Given the description of an element on the screen output the (x, y) to click on. 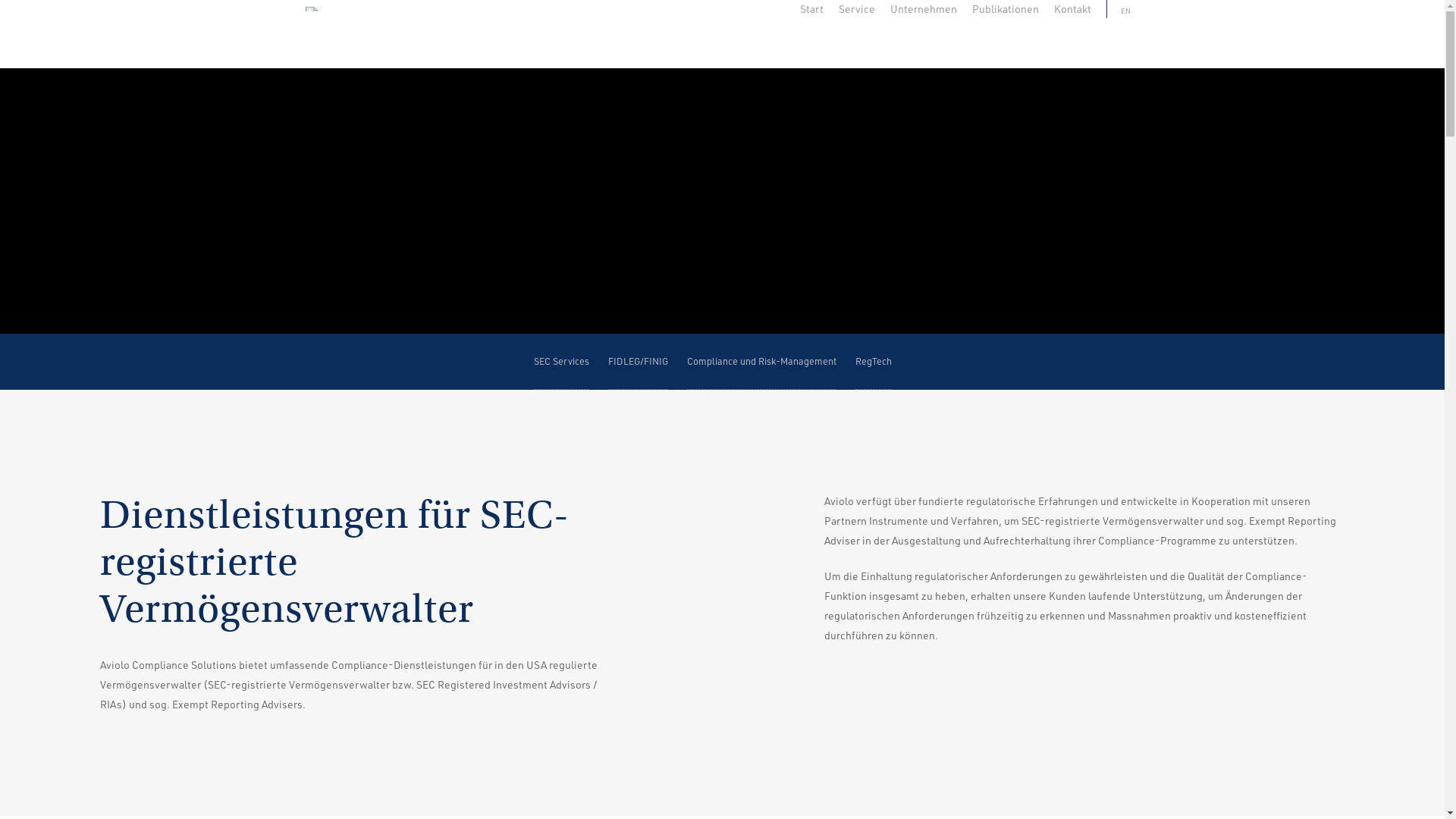
FIDLEG/FINIG Element type: text (638, 361)
Compliance und Risk-Management Element type: text (761, 361)
SEC Services Element type: text (561, 361)
Publikationen Element type: text (1005, 8)
Unternehmen Element type: text (923, 8)
Service Element type: text (856, 8)
RegTech Element type: text (873, 361)
Start Element type: text (810, 8)
Kontakt Element type: text (1072, 8)
EN Element type: text (1122, 9)
